Given the description of an element on the screen output the (x, y) to click on. 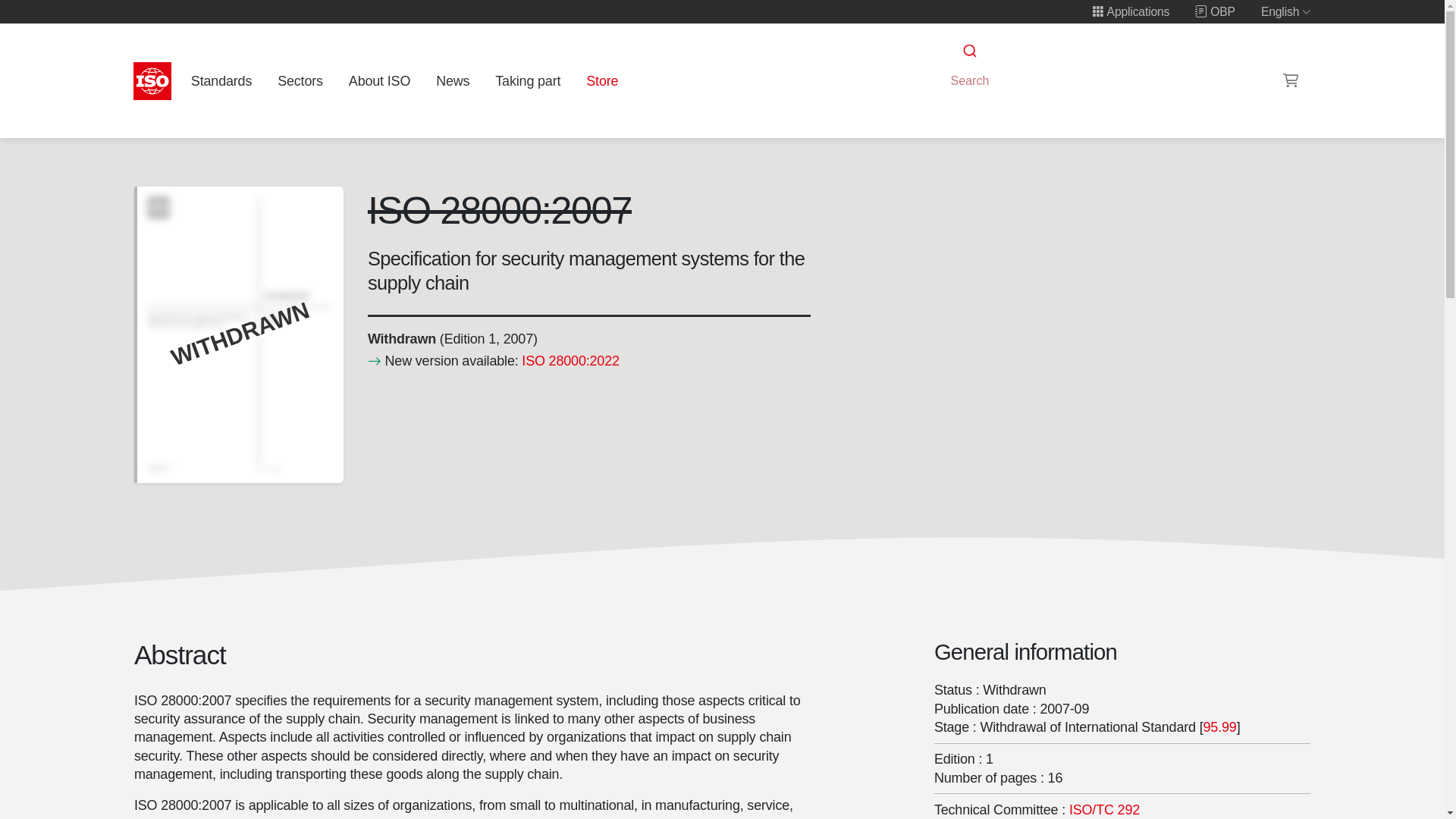
Withdrawn (400, 338)
Taking part (528, 80)
English (1285, 11)
Online Browsing Platform (1214, 11)
ISO's applications portal (1130, 11)
 OBP (1214, 11)
95.99 (1220, 726)
Standards (220, 80)
ISO 28000:2022 (569, 360)
Store (601, 80)
About ISO (379, 80)
News (452, 80)
